Given the description of an element on the screen output the (x, y) to click on. 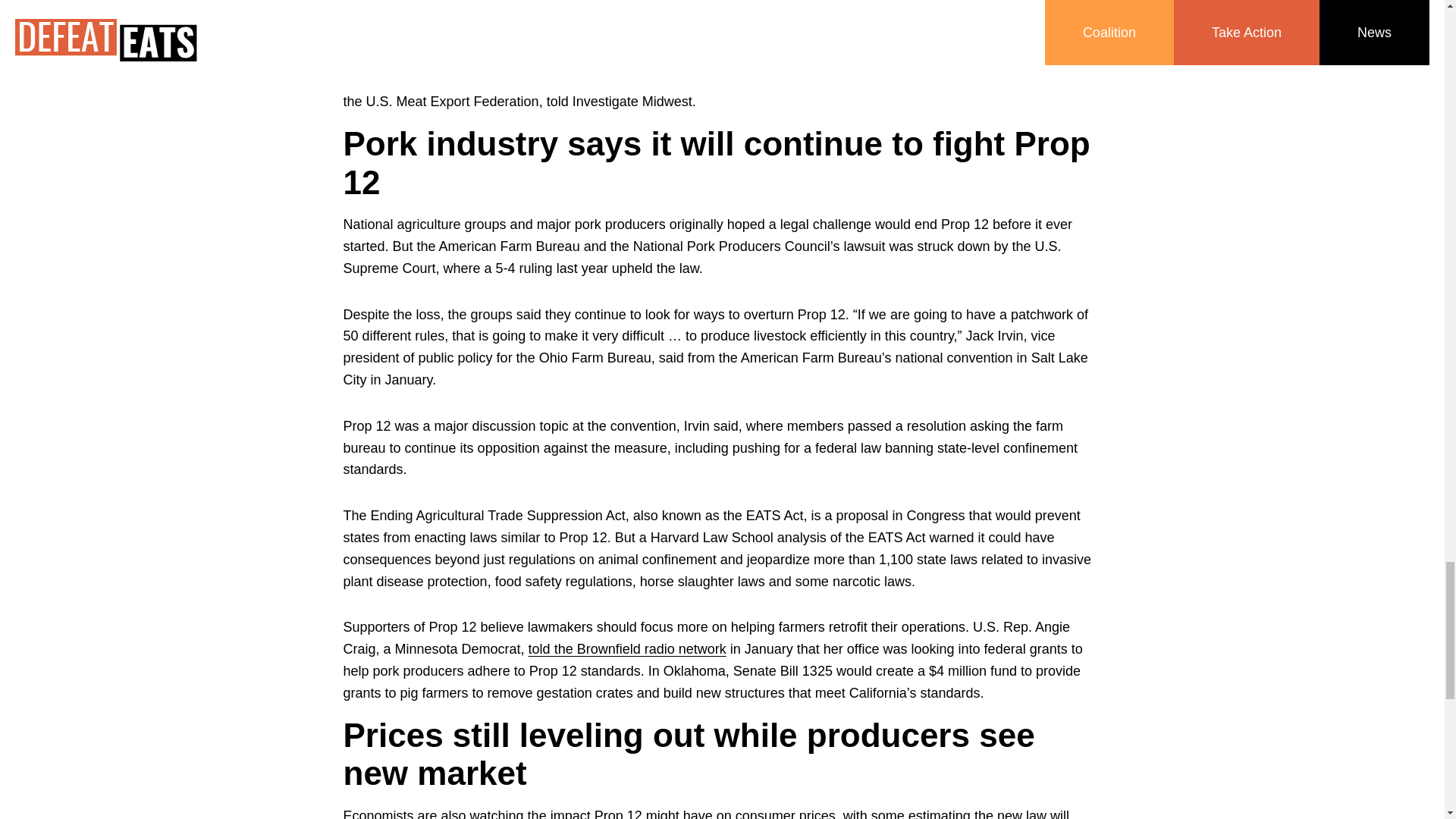
told the Brownfield radio network (627, 648)
